Given the description of an element on the screen output the (x, y) to click on. 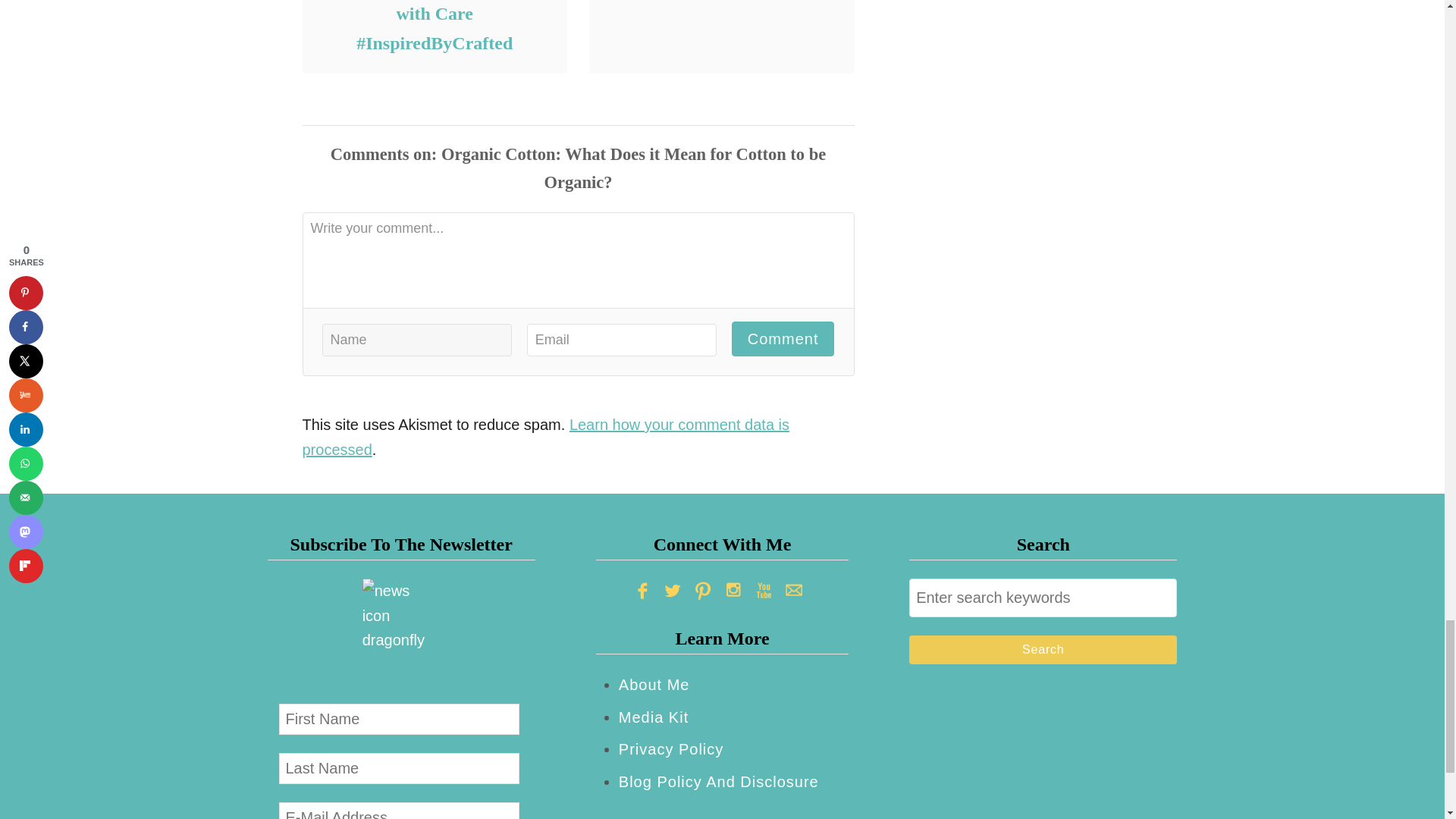
Search (1042, 649)
Search (1042, 649)
Search for: (1042, 597)
